Given the description of an element on the screen output the (x, y) to click on. 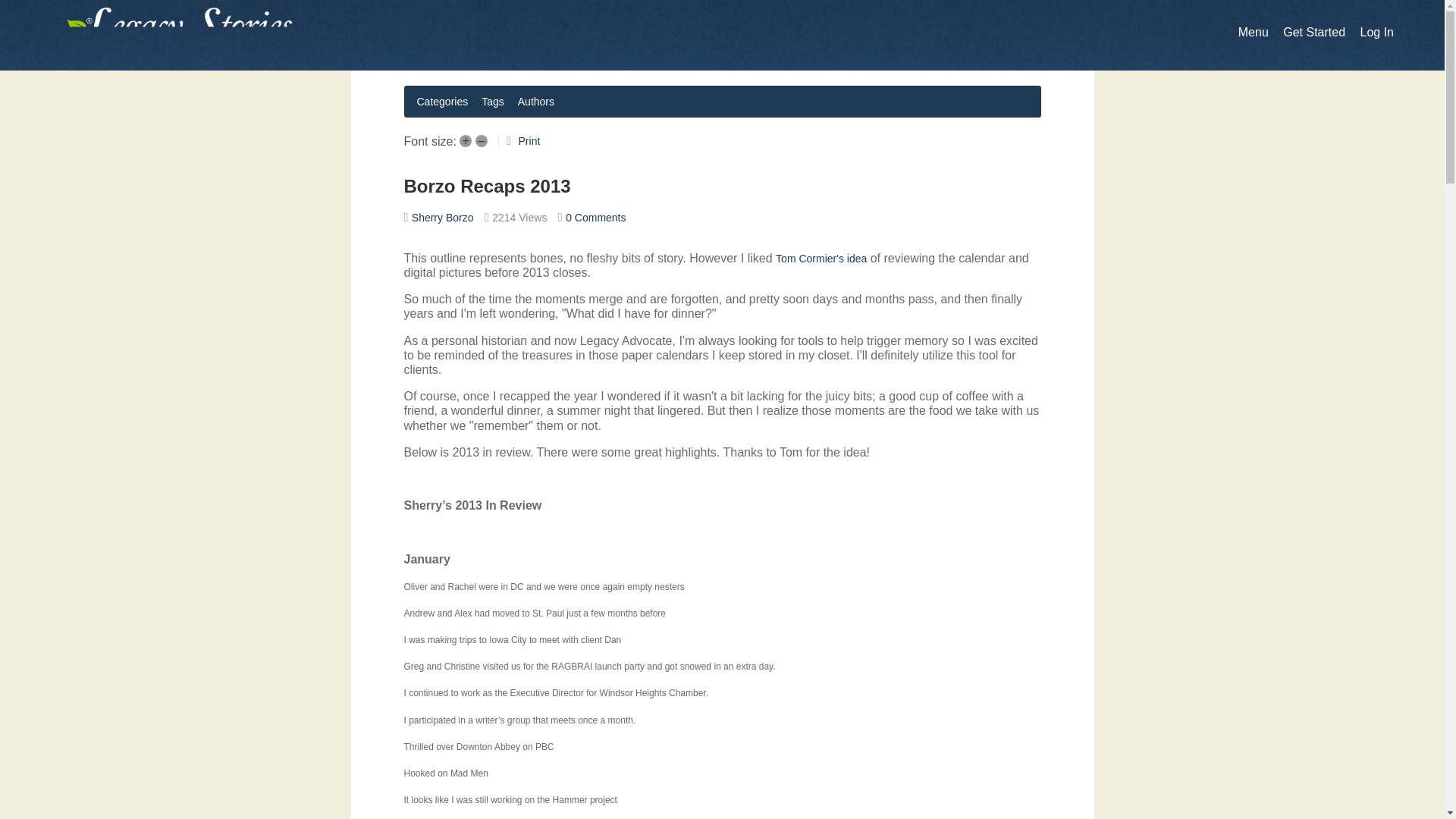
Authors (536, 101)
Print (529, 141)
Categories (442, 101)
Log In (1376, 31)
Menu (1253, 31)
Get Started (1313, 31)
Print (529, 141)
Sherry Borzo (443, 217)
Tags (493, 101)
